Given the description of an element on the screen output the (x, y) to click on. 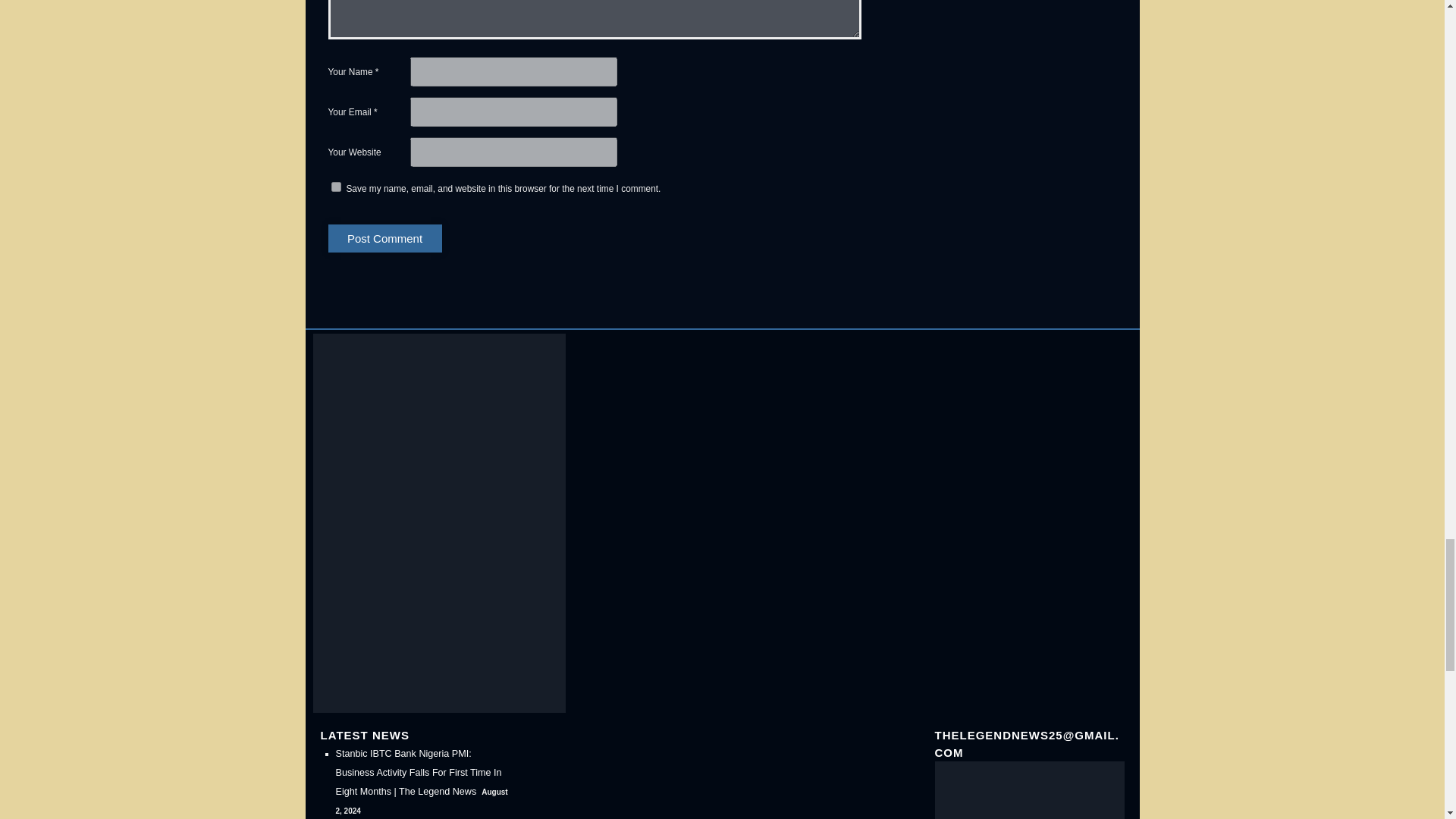
Post Comment (384, 238)
yes (335, 186)
